Given the description of an element on the screen output the (x, y) to click on. 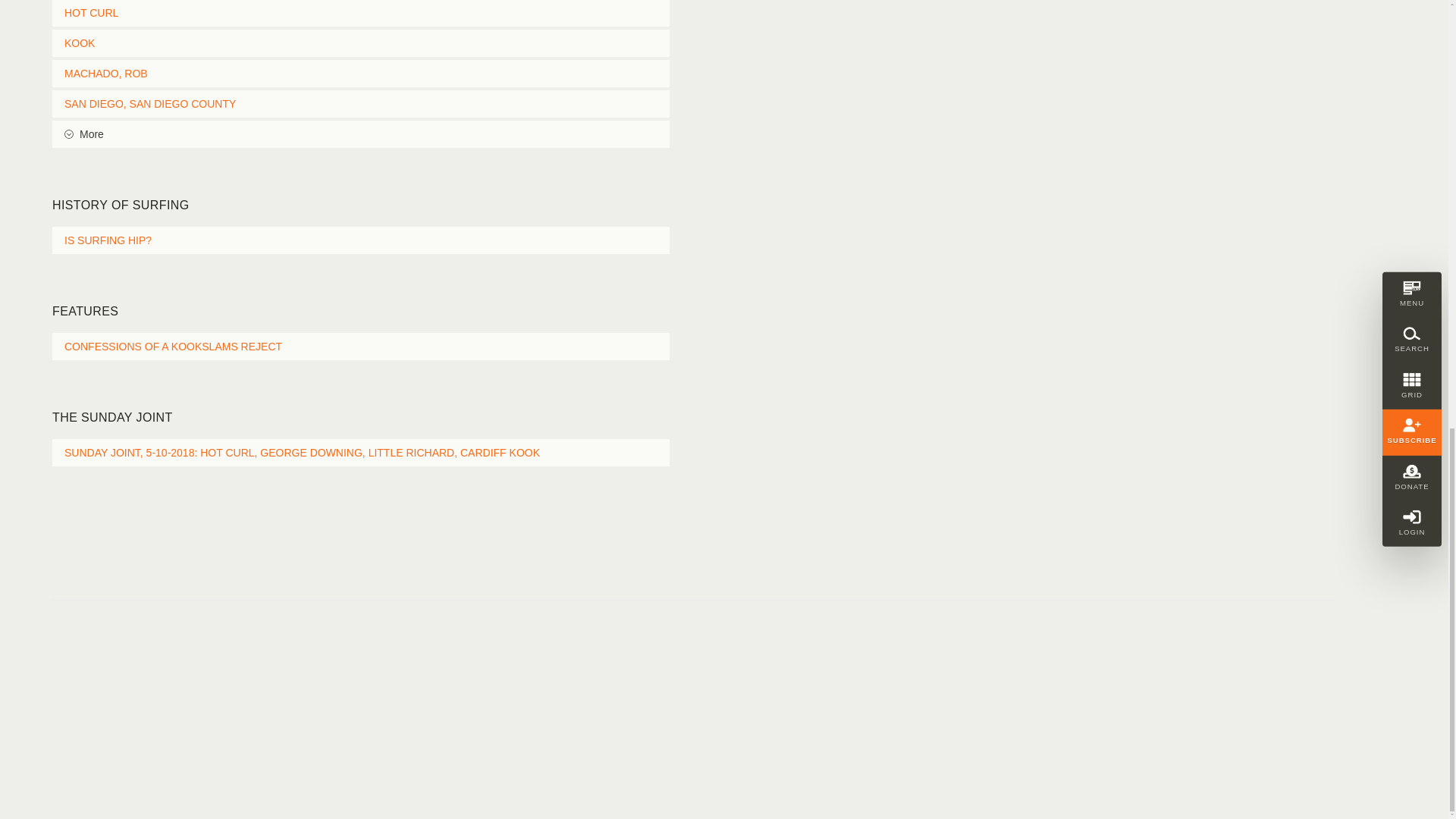
CONFESSIONS OF A KOOKSLAMS REJECT (360, 346)
HOT CURL (360, 13)
IS SURFING HIP? (360, 239)
MACHADO, ROB (360, 72)
SAN DIEGO, SAN DIEGO COUNTY (360, 103)
KOOK (360, 42)
More (360, 134)
